Given the description of an element on the screen output the (x, y) to click on. 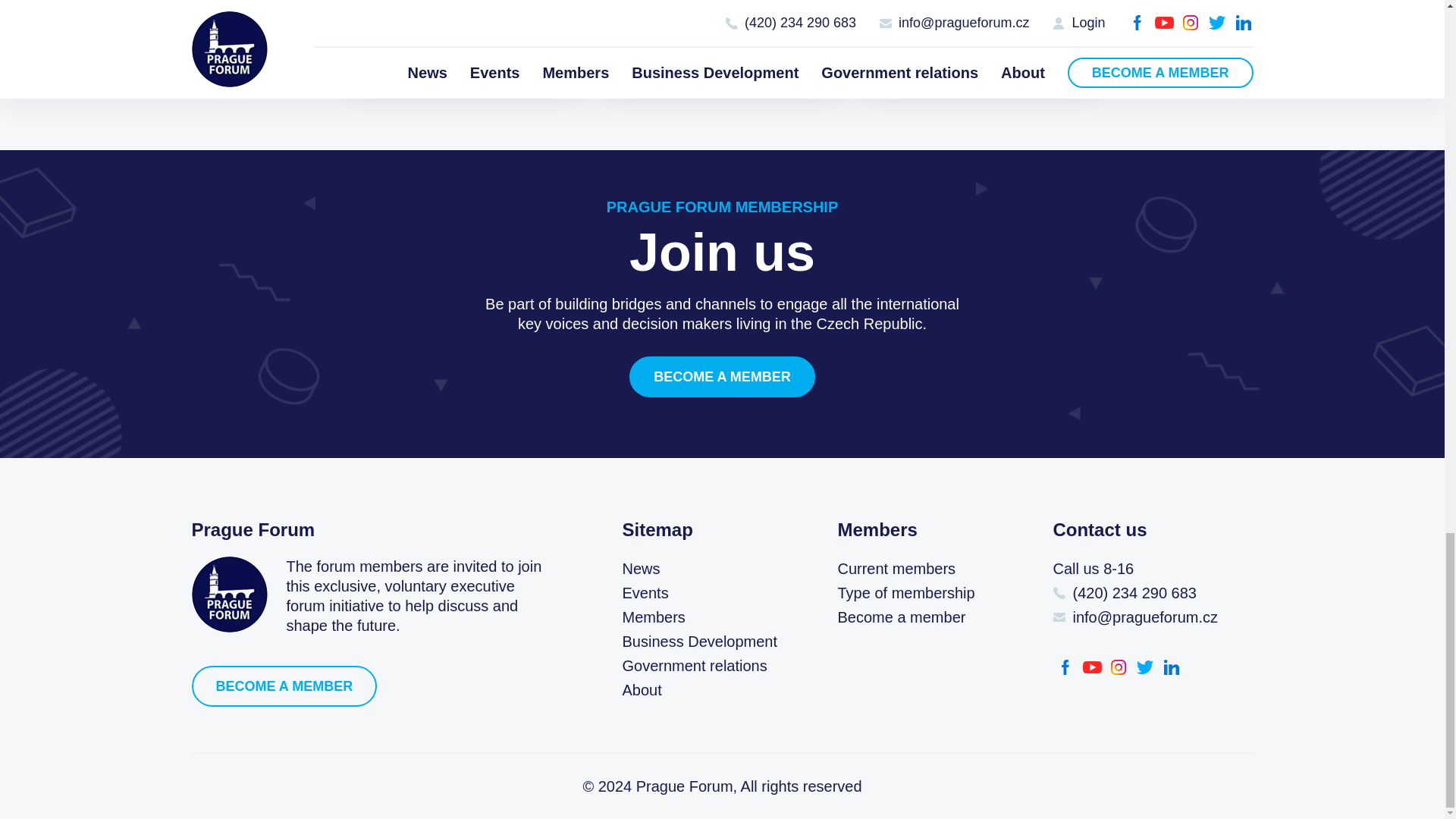
BECOME A MEMBER (721, 376)
Business Development (699, 641)
BECOME A MEMBER (283, 685)
Events (644, 592)
News (640, 568)
Prague Forum (228, 594)
Members (652, 617)
Government relations (694, 665)
